Given the description of an element on the screen output the (x, y) to click on. 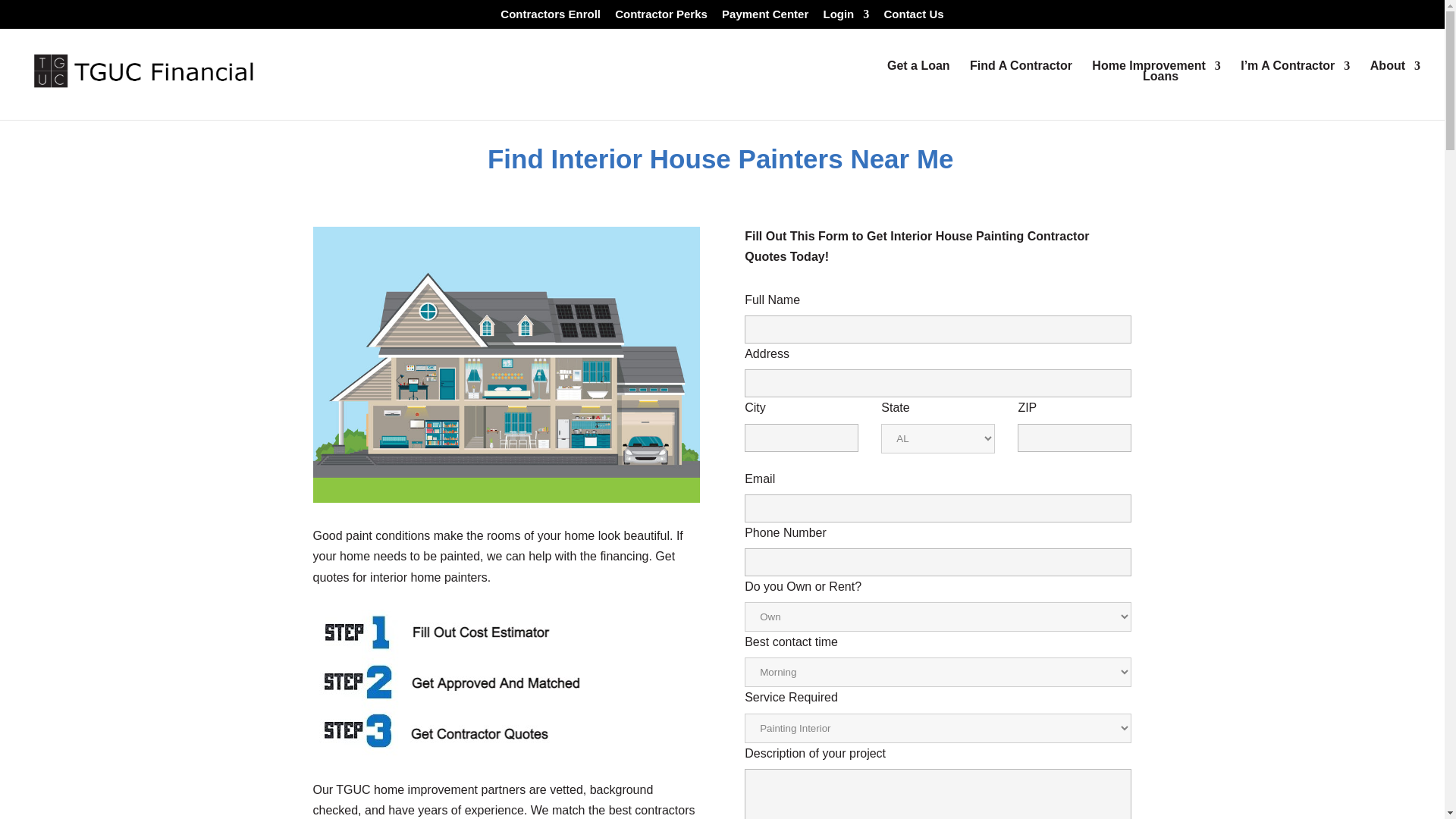
123 quote blue v2 (918, 89)
Payment Center (459, 682)
Contractor Perks (765, 17)
Contractors Enroll (660, 17)
Contact Us (1020, 89)
Login (1156, 89)
